Given the description of an element on the screen output the (x, y) to click on. 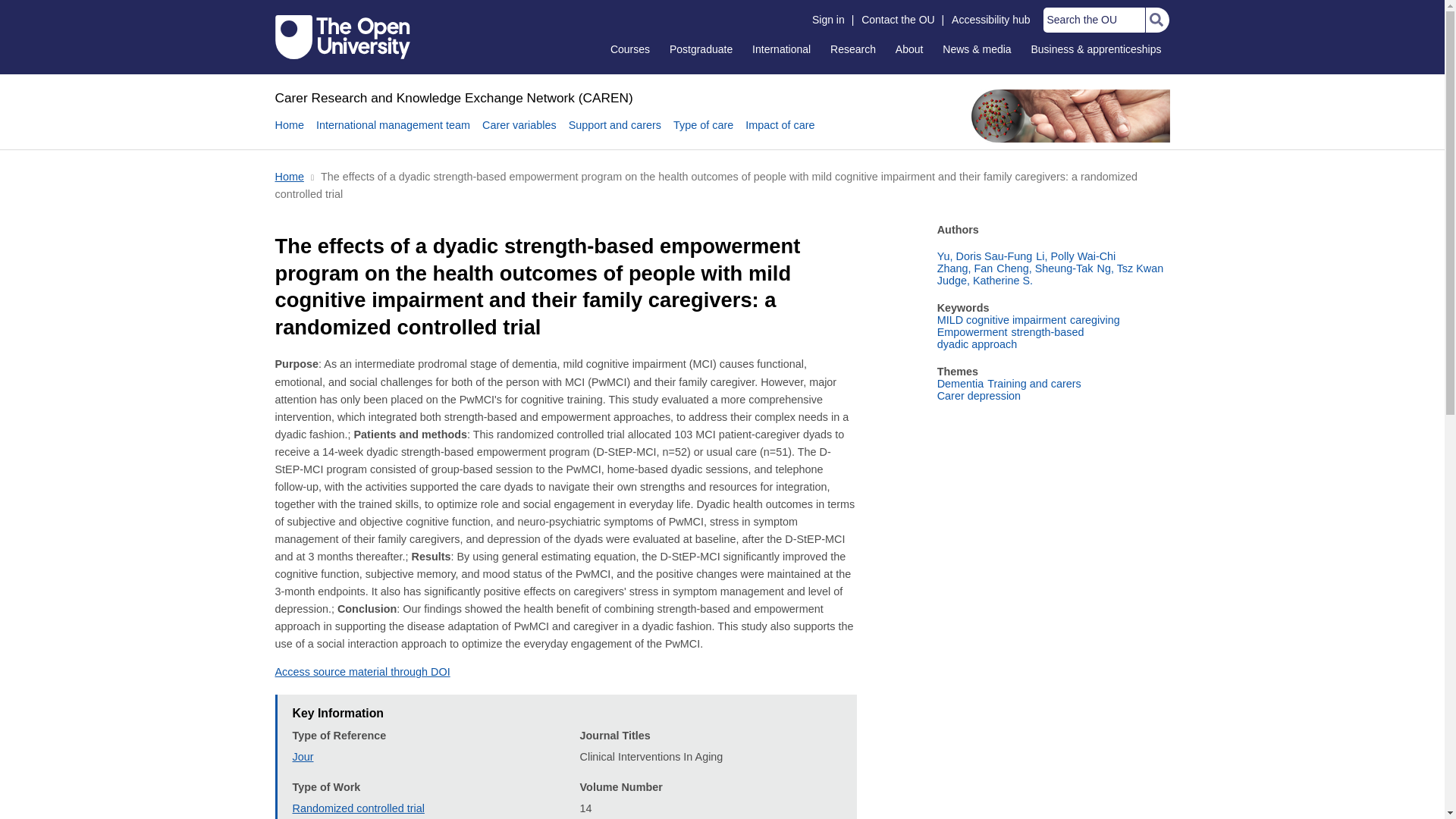
Impact of care (779, 133)
The Open University (342, 36)
Search (1156, 19)
International (781, 49)
Home (288, 133)
Impact of care (779, 133)
Support and carers (615, 133)
Carer variables (518, 133)
Type of care (702, 133)
Home (288, 176)
